Given the description of an element on the screen output the (x, y) to click on. 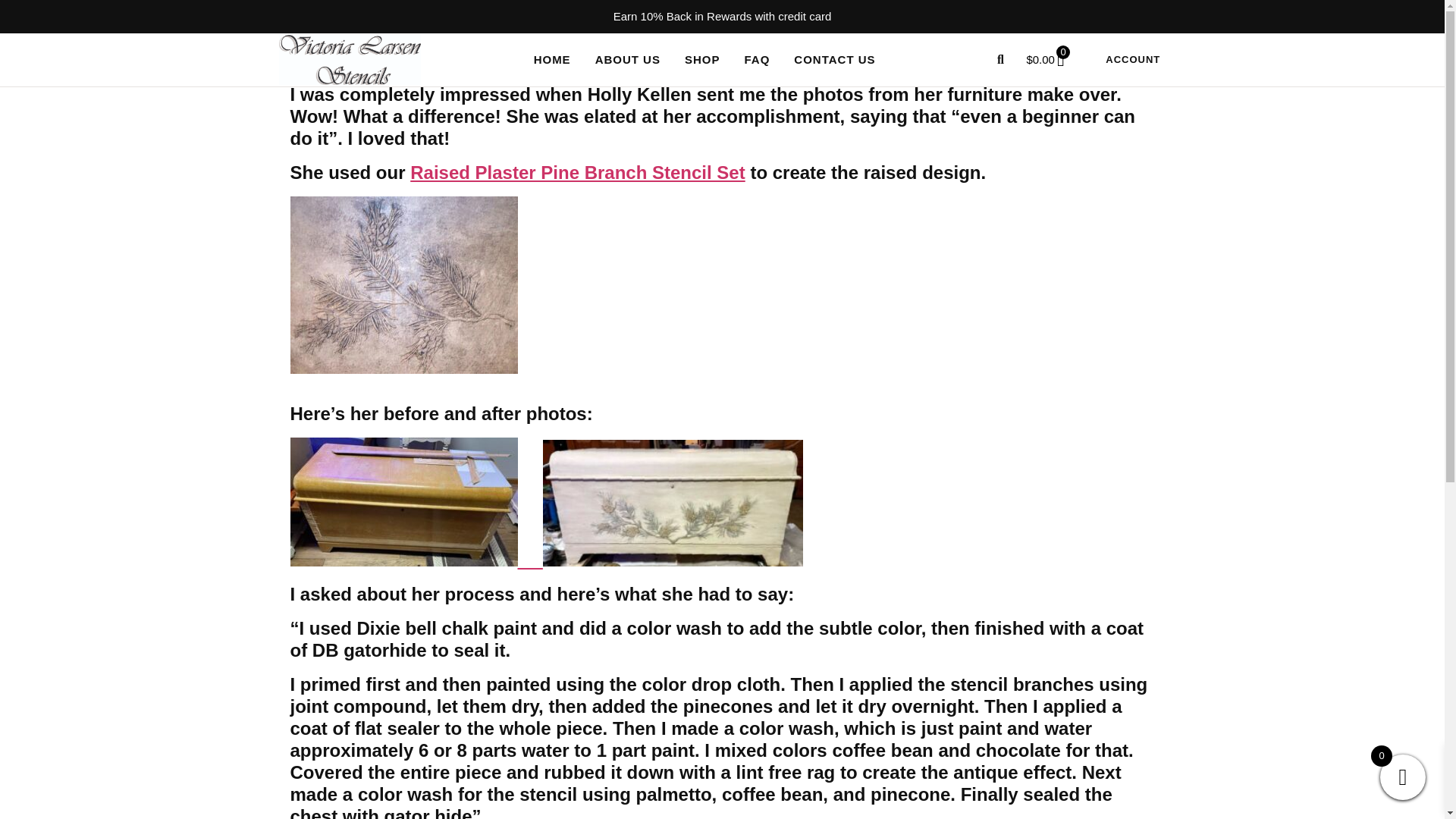
ABOUT US (628, 59)
CONTACT US (834, 59)
Raised Plaster Pine Branch Stencil Set (577, 172)
ACCOUNT (1132, 60)
